Given the description of an element on the screen output the (x, y) to click on. 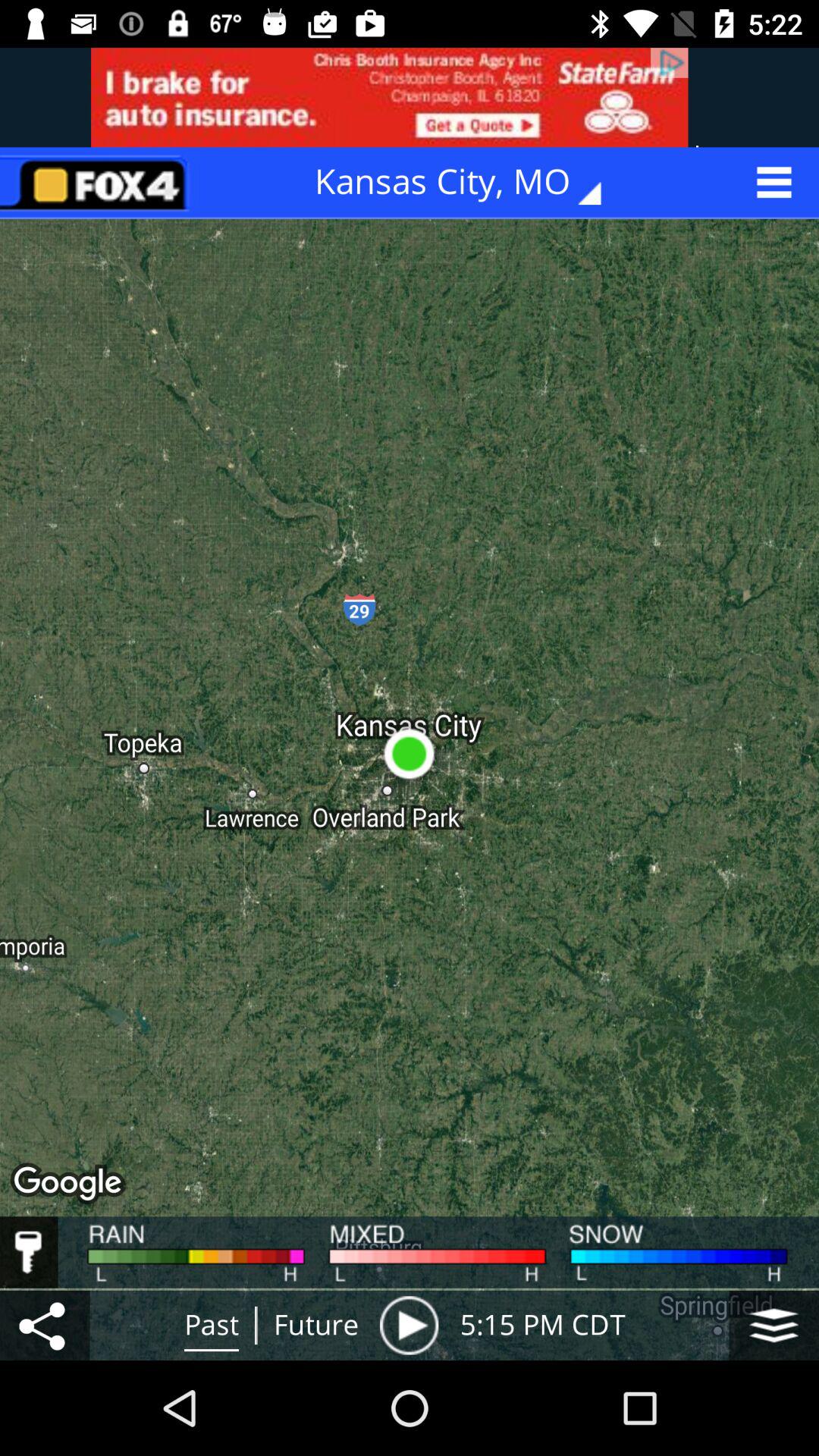
share localization (44, 1325)
